Given the description of an element on the screen output the (x, y) to click on. 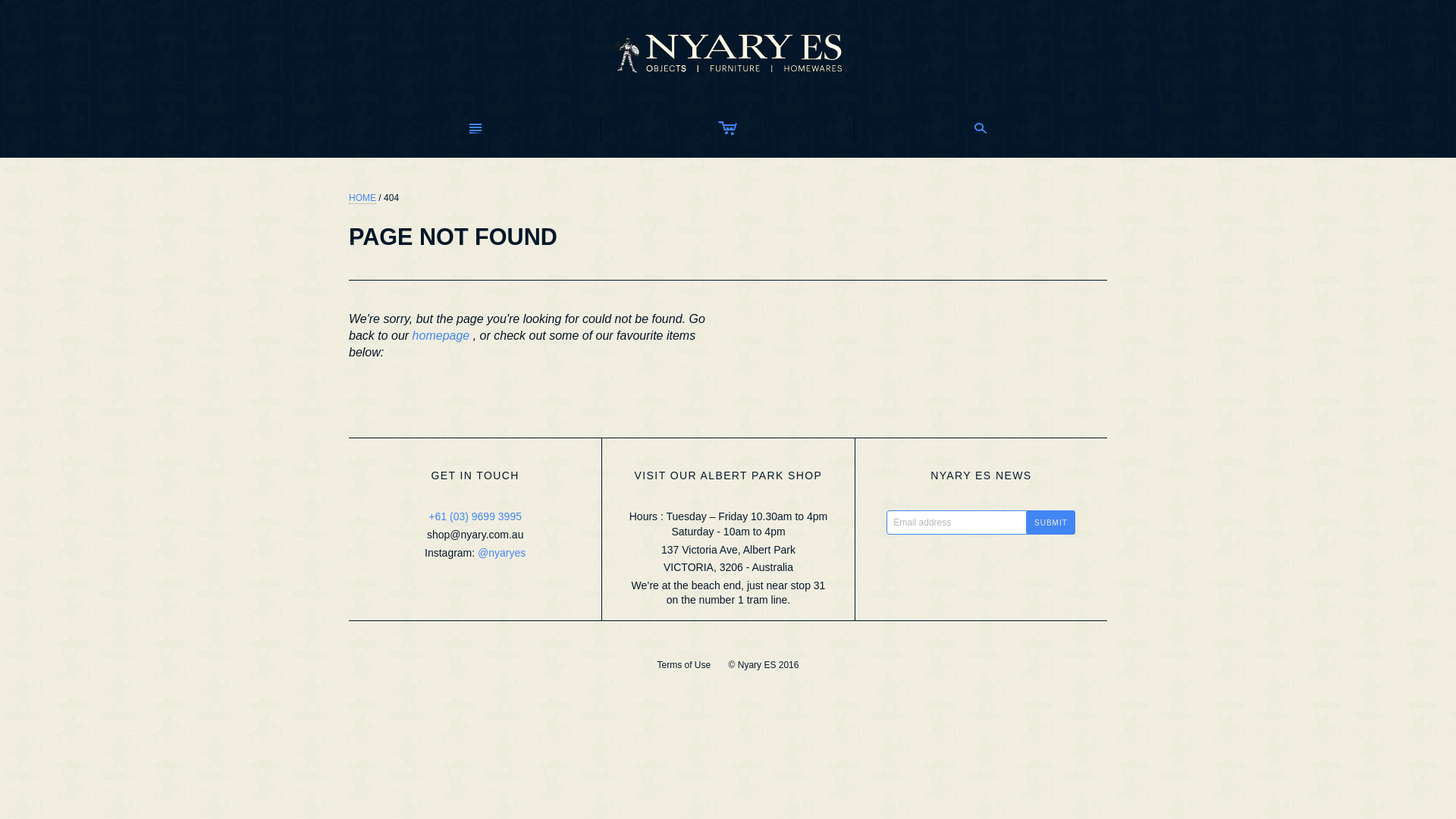
Submit Element type: text (1050, 522)
shop@nyary.com.au Element type: text (475, 534)
Terms of Use Element type: text (684, 664)
@nyaryes Element type: text (501, 552)
c Element type: text (727, 128)
HOME Element type: text (362, 197)
homepage Element type: text (441, 335)
